Given the description of an element on the screen output the (x, y) to click on. 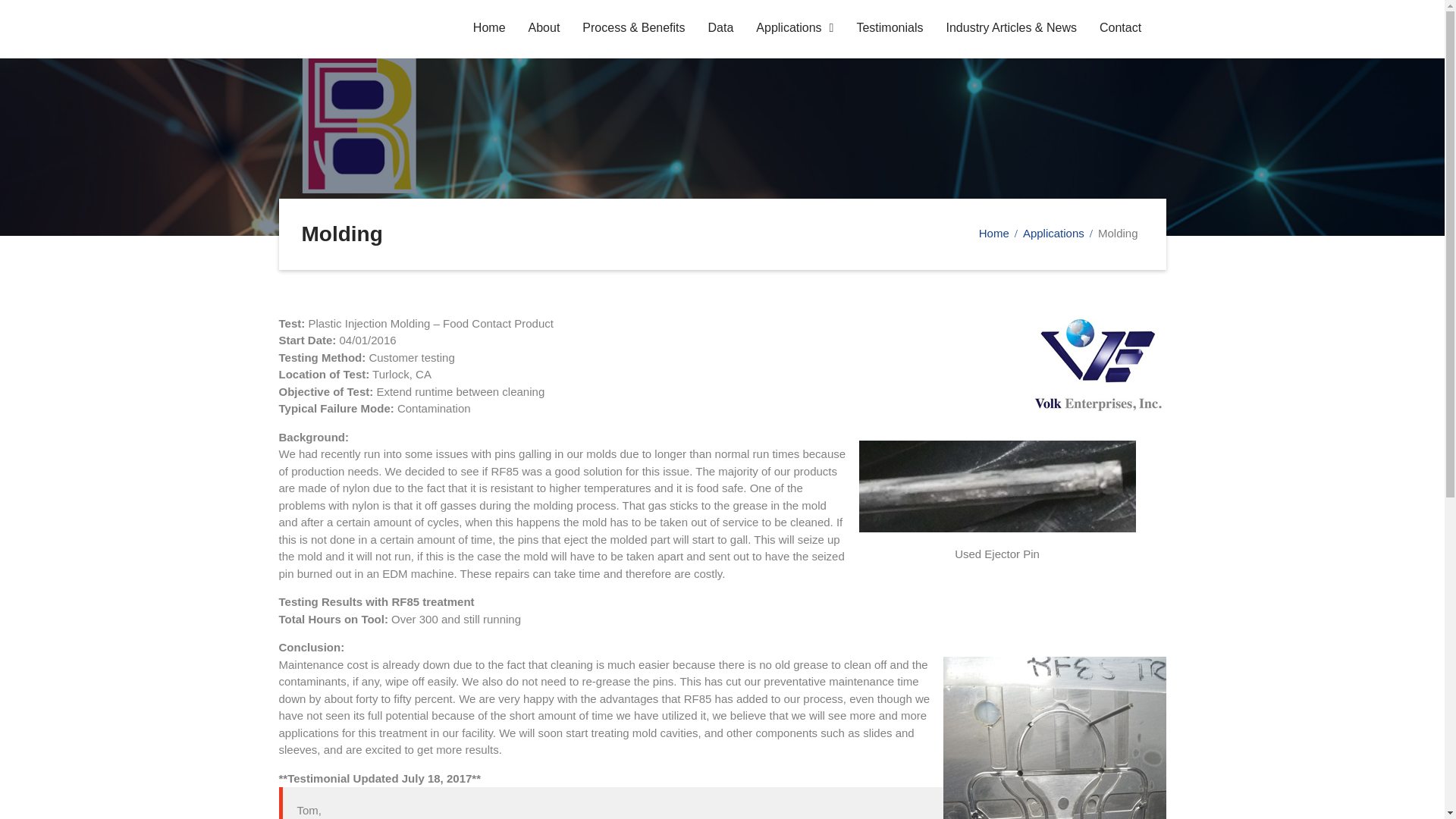
About (544, 28)
Home (997, 232)
Testimonials (889, 28)
Applications (1058, 232)
Contact (1120, 28)
Applications (793, 28)
Home (489, 28)
